Given the description of an element on the screen output the (x, y) to click on. 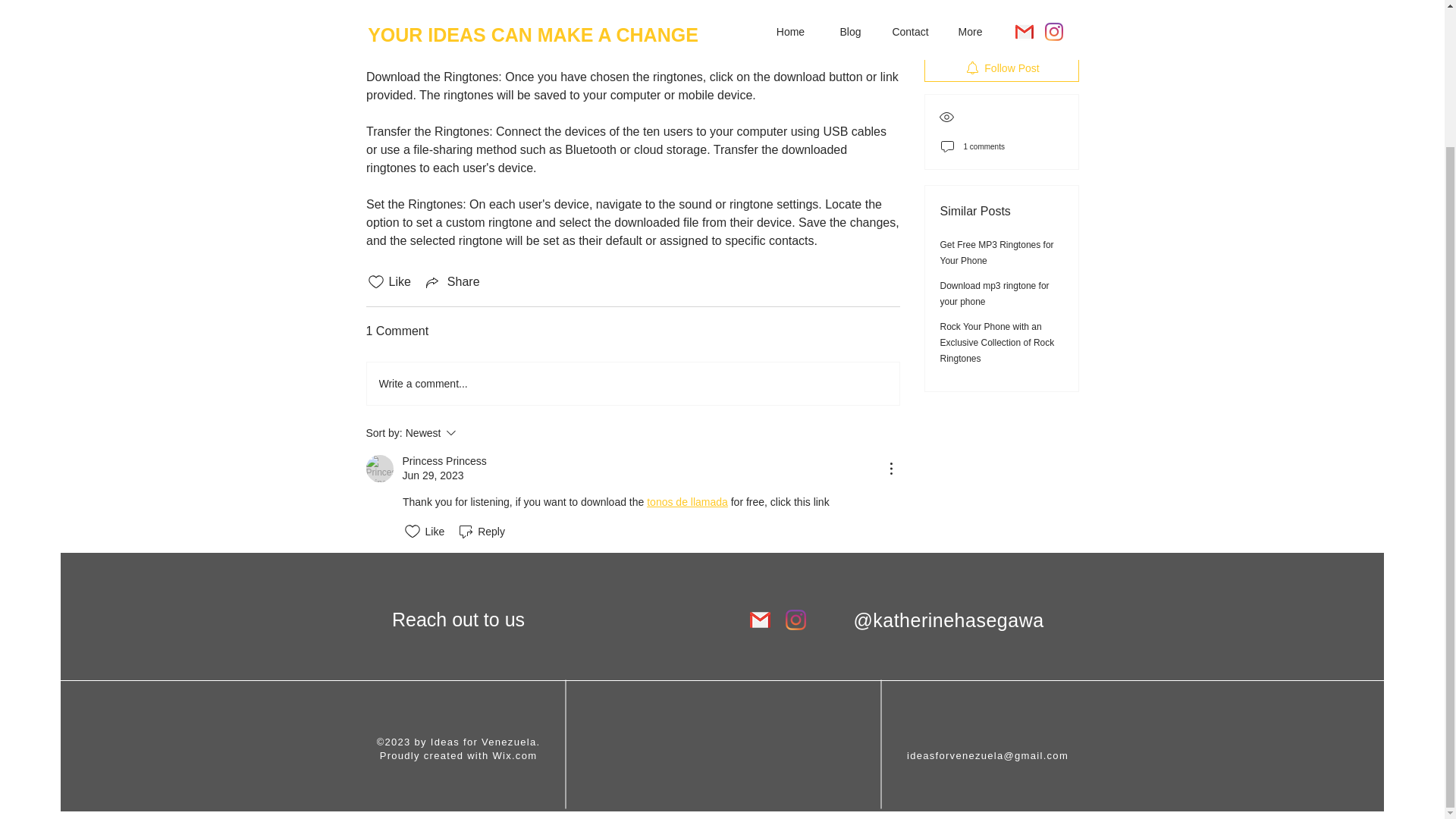
Get Free MP3 Ringtones for Your Phone (997, 199)
Share (451, 281)
tonos de llamada (471, 433)
Princess Princess (687, 501)
Wix.com (379, 468)
Write a comment... (514, 755)
Follow Post (632, 383)
in General Discussion (1000, 14)
